Given the description of an element on the screen output the (x, y) to click on. 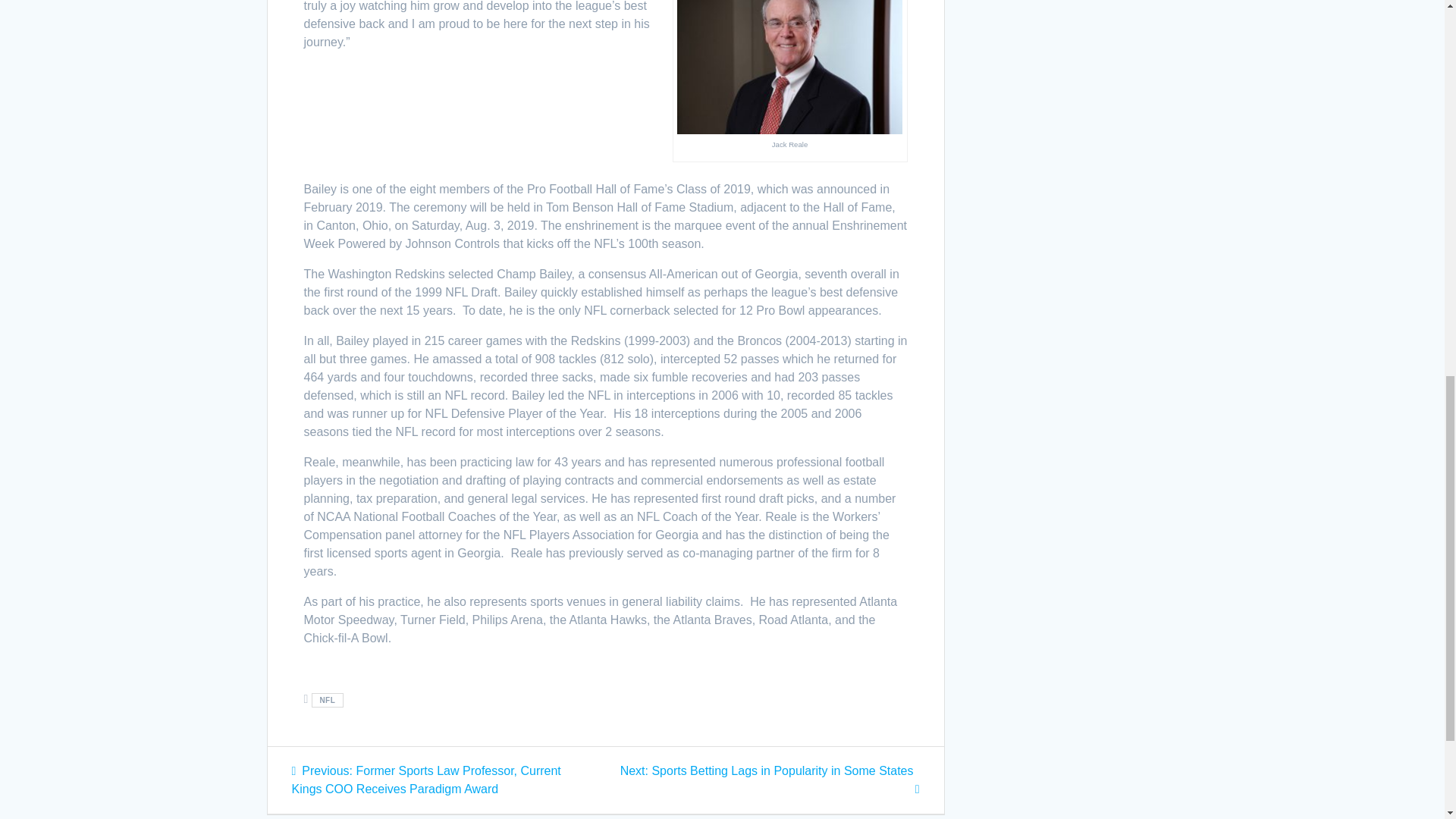
NFL (327, 699)
